Given the description of an element on the screen output the (x, y) to click on. 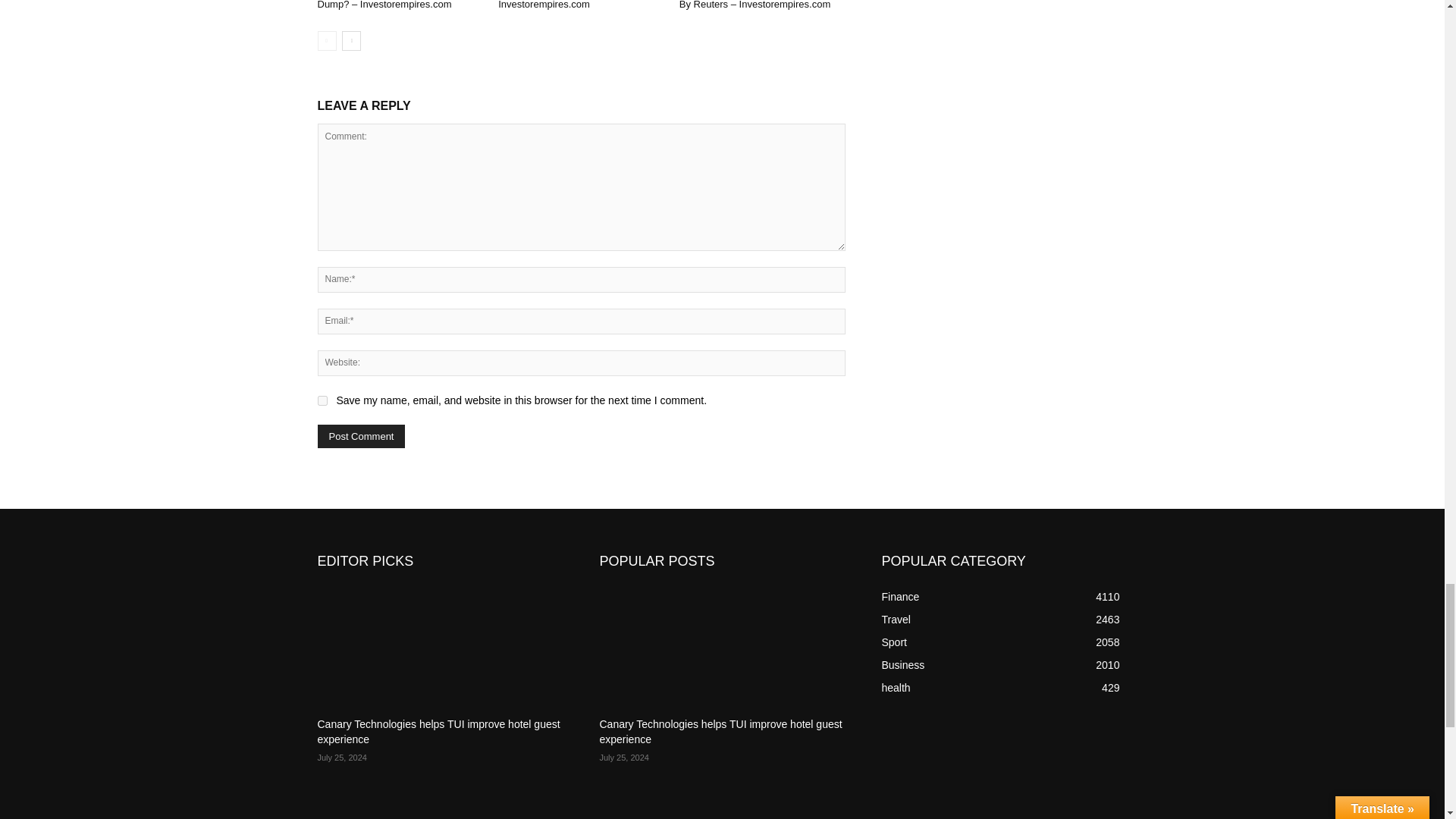
yes (321, 400)
Post Comment (360, 436)
